Given the description of an element on the screen output the (x, y) to click on. 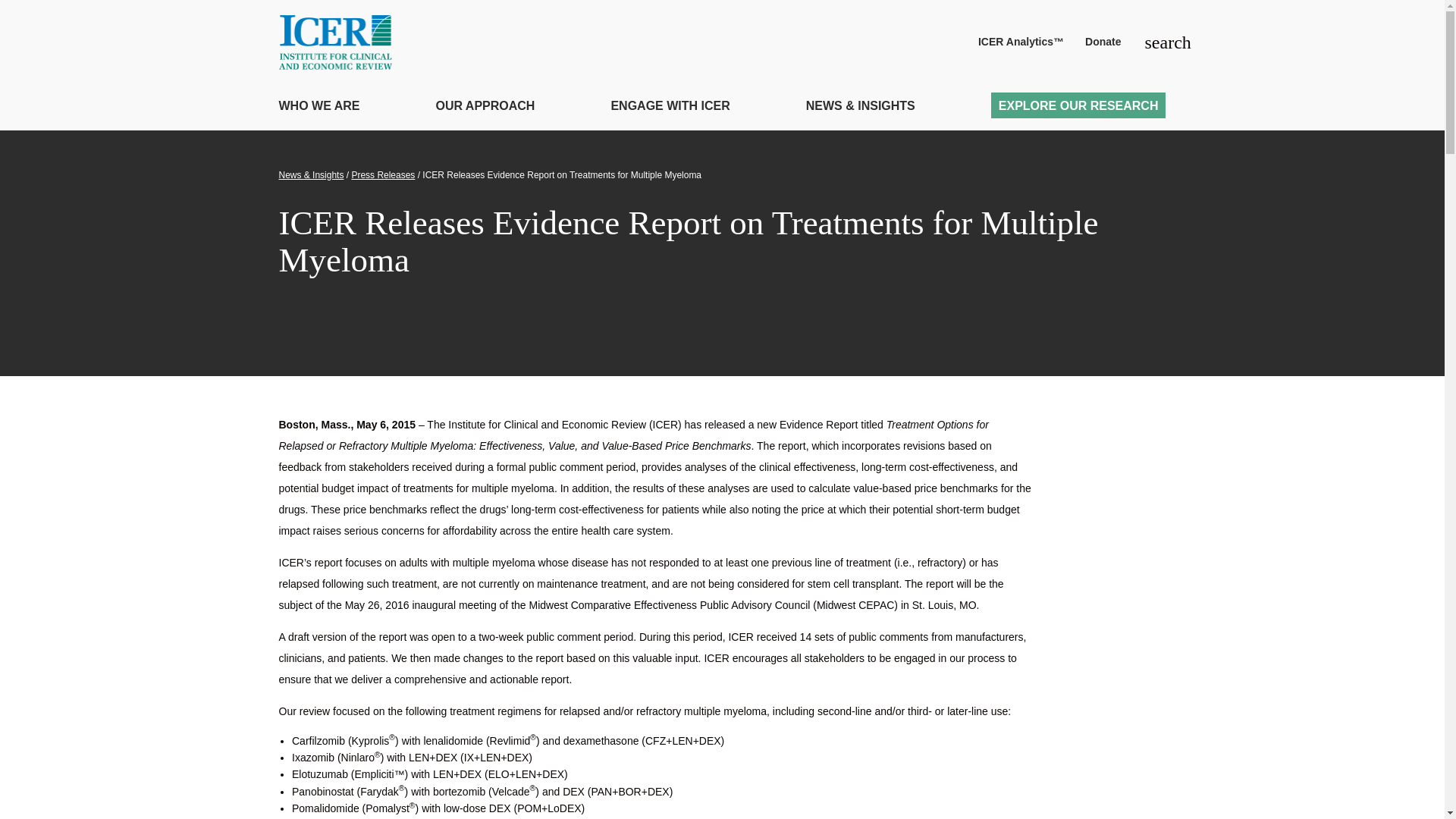
Search (1153, 42)
OUR APPROACH (484, 107)
ENGAGE WITH ICER (669, 107)
EXPLORE OUR RESEARCH (1078, 104)
WHO WE ARE (319, 107)
Donate (1102, 42)
Go to Press Releases. (382, 174)
Press Releases (382, 174)
